Given the description of an element on the screen output the (x, y) to click on. 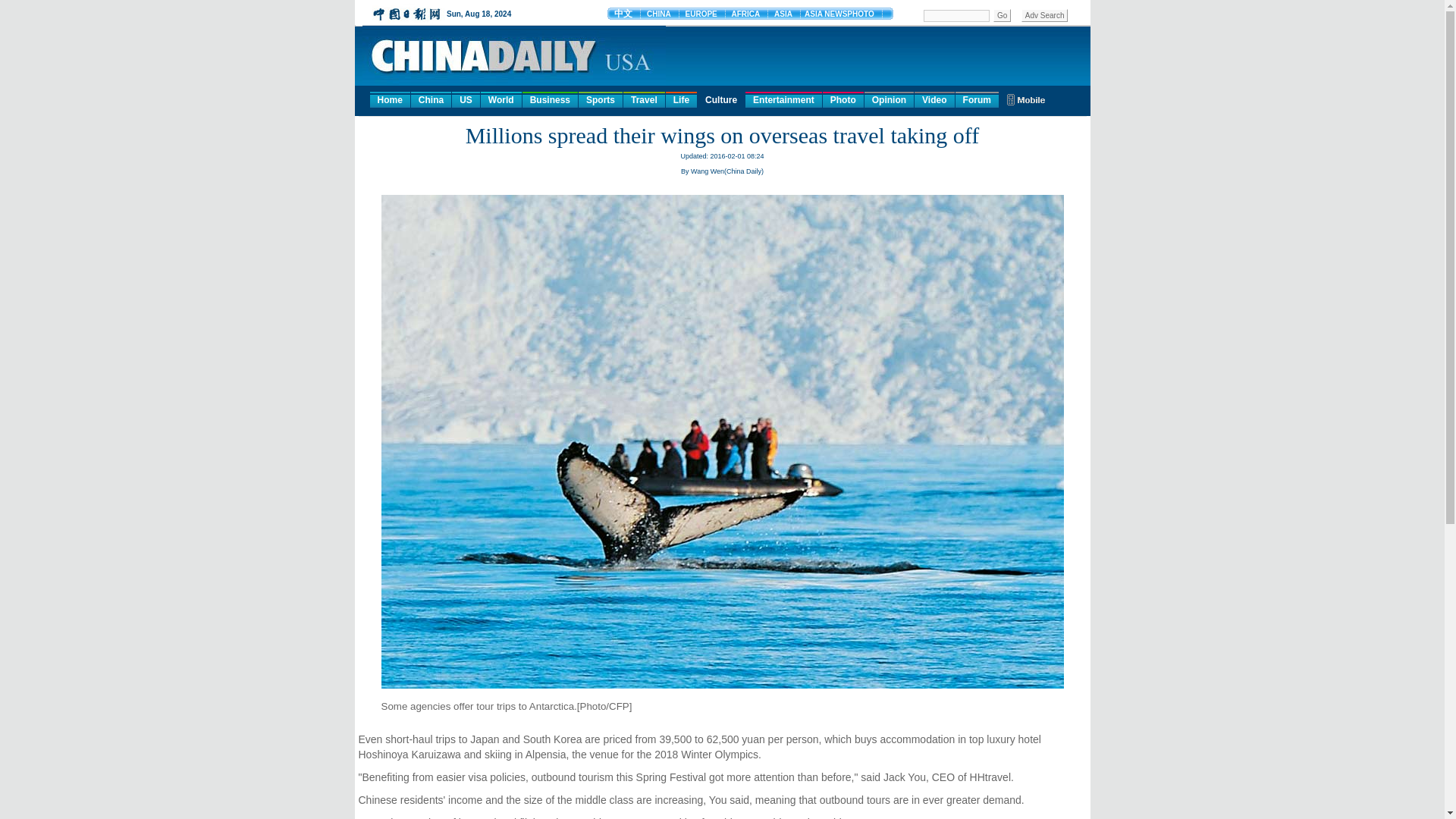
Business (550, 99)
US (465, 99)
Home (389, 99)
Sports (600, 99)
Travel (644, 99)
China (430, 99)
World (500, 99)
